Given the description of an element on the screen output the (x, y) to click on. 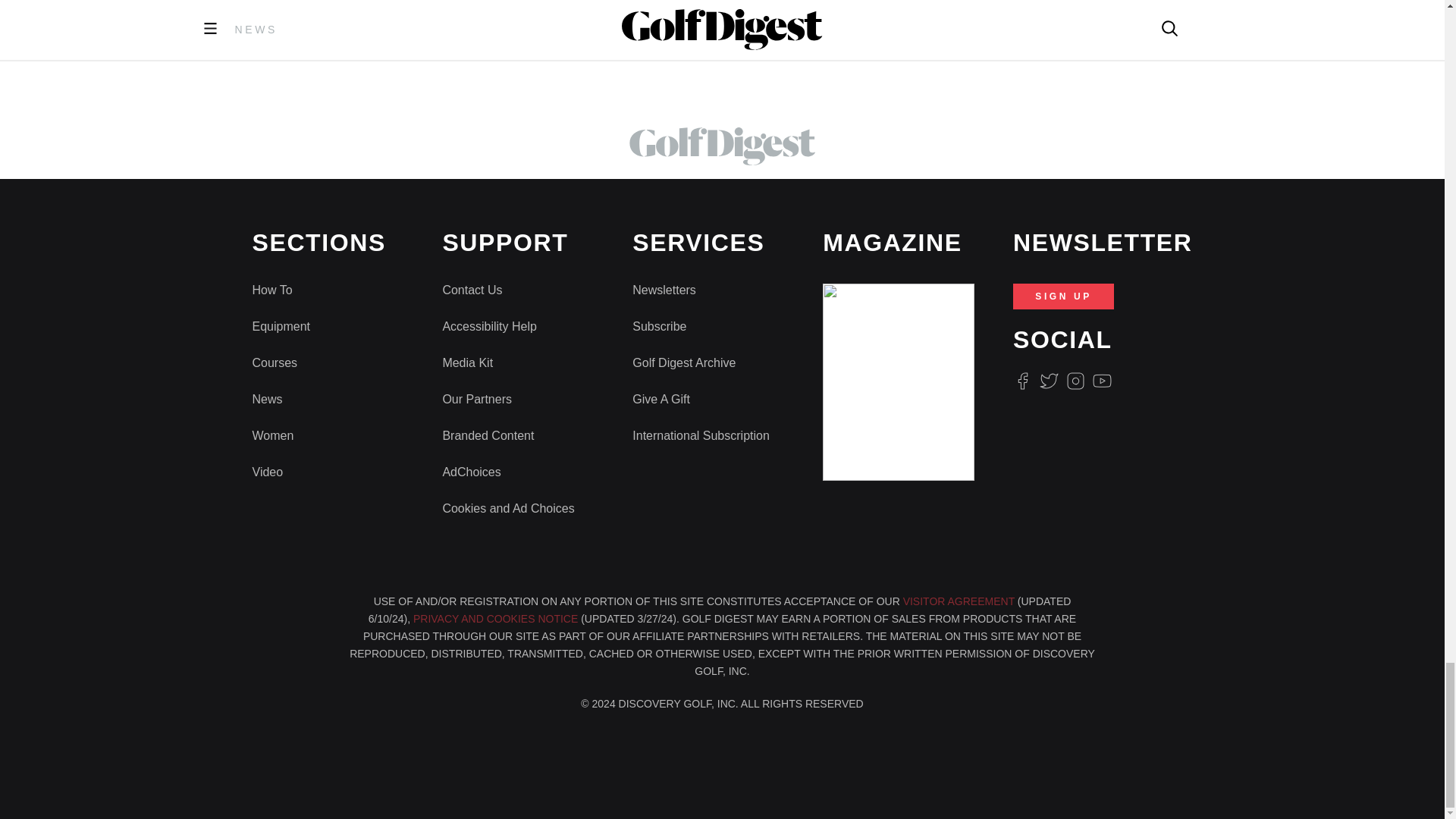
Twitter Logo (1048, 380)
Instagram Logo (1074, 380)
Facebook Logo (1022, 380)
Youtube Icon (1102, 380)
